Given the description of an element on the screen output the (x, y) to click on. 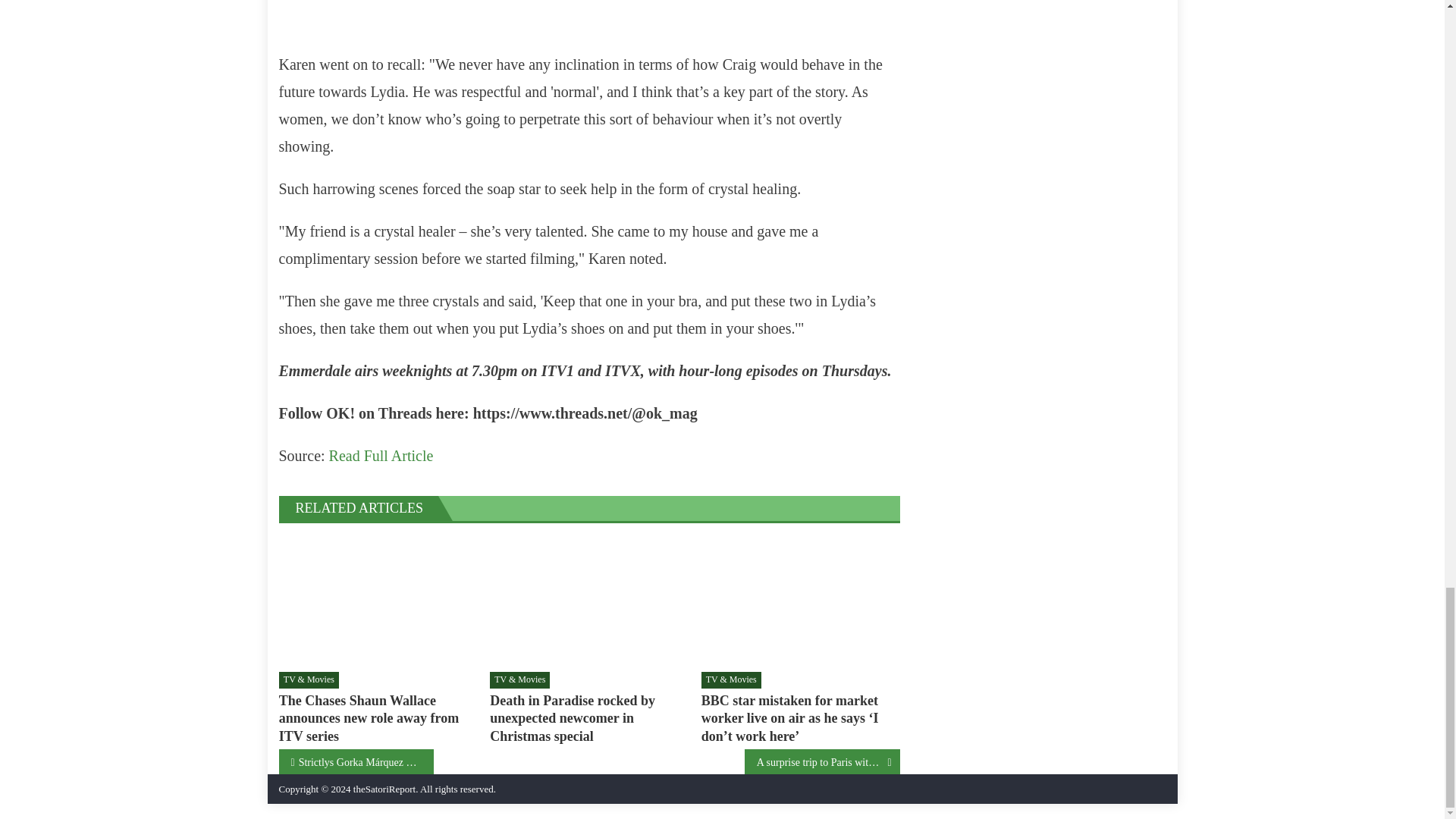
theSatoriReport (383, 788)
Read Full Article (381, 455)
theSatoriReport (383, 788)
